Given the description of an element on the screen output the (x, y) to click on. 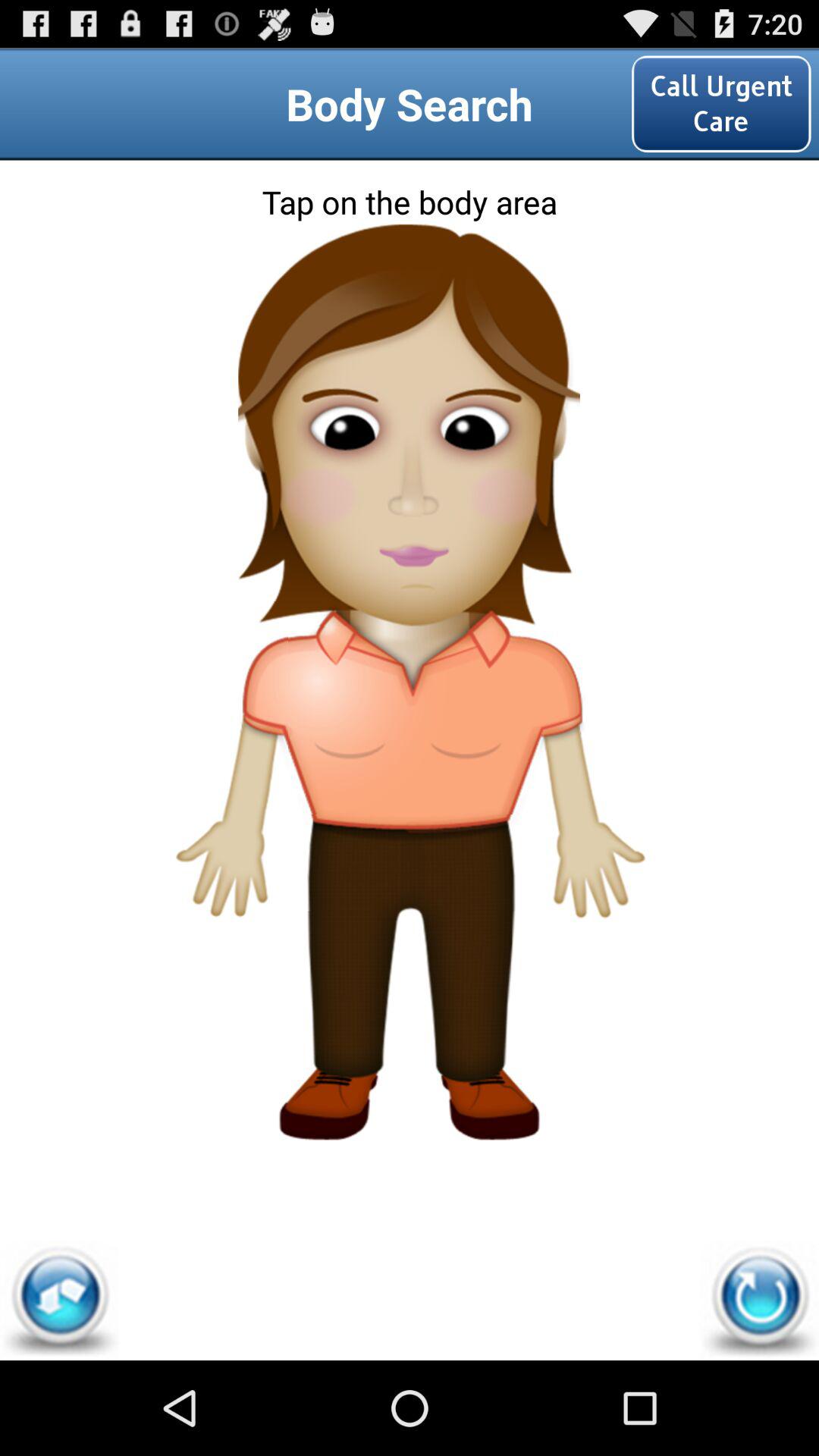
human legs (409, 1025)
